Given the description of an element on the screen output the (x, y) to click on. 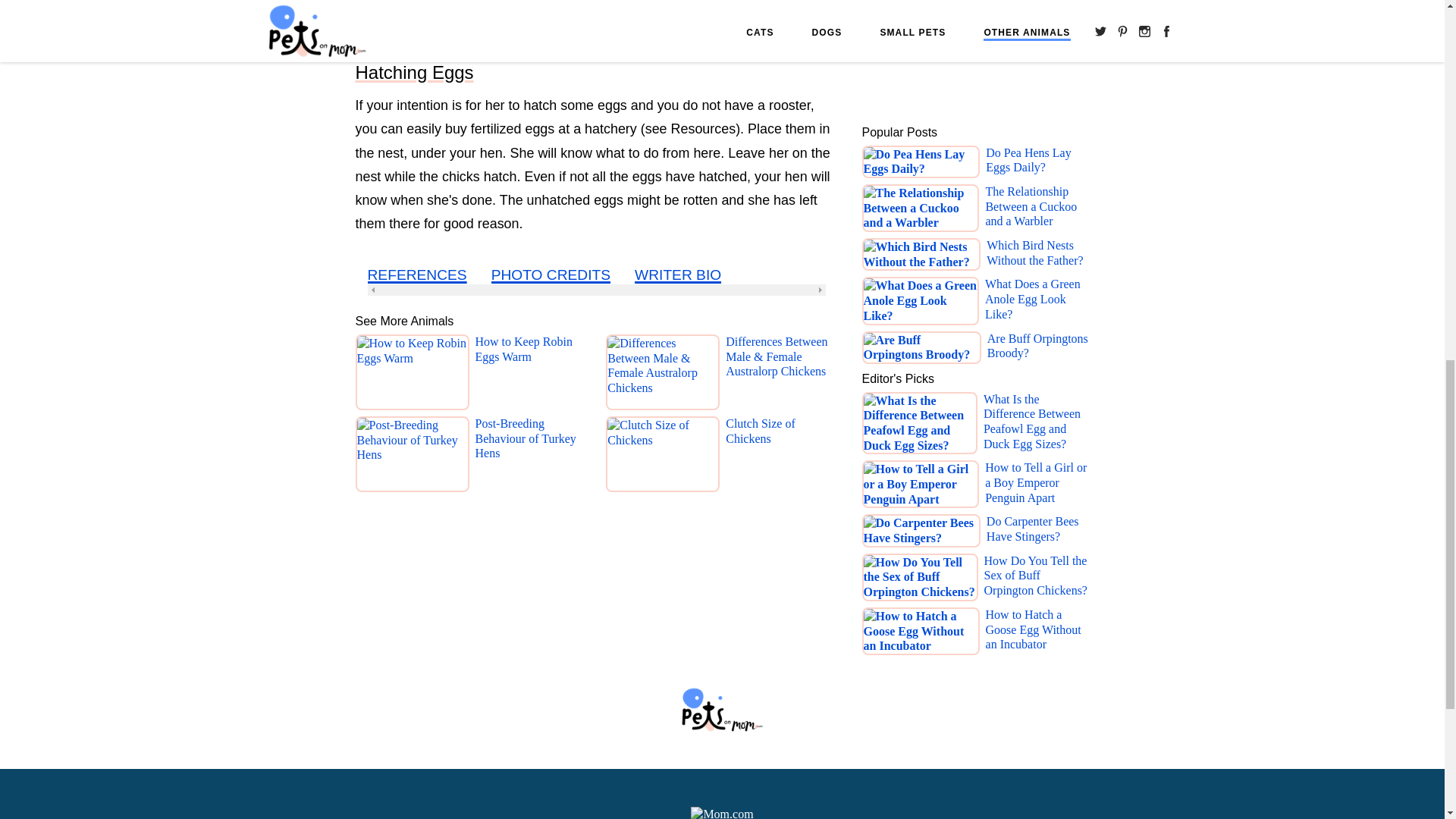
Clutch Size of Chickens (781, 456)
How to Keep Robin Eggs Warm (530, 375)
Post-Breeding Behaviour of Turkey Hens (530, 456)
